Given the description of an element on the screen output the (x, y) to click on. 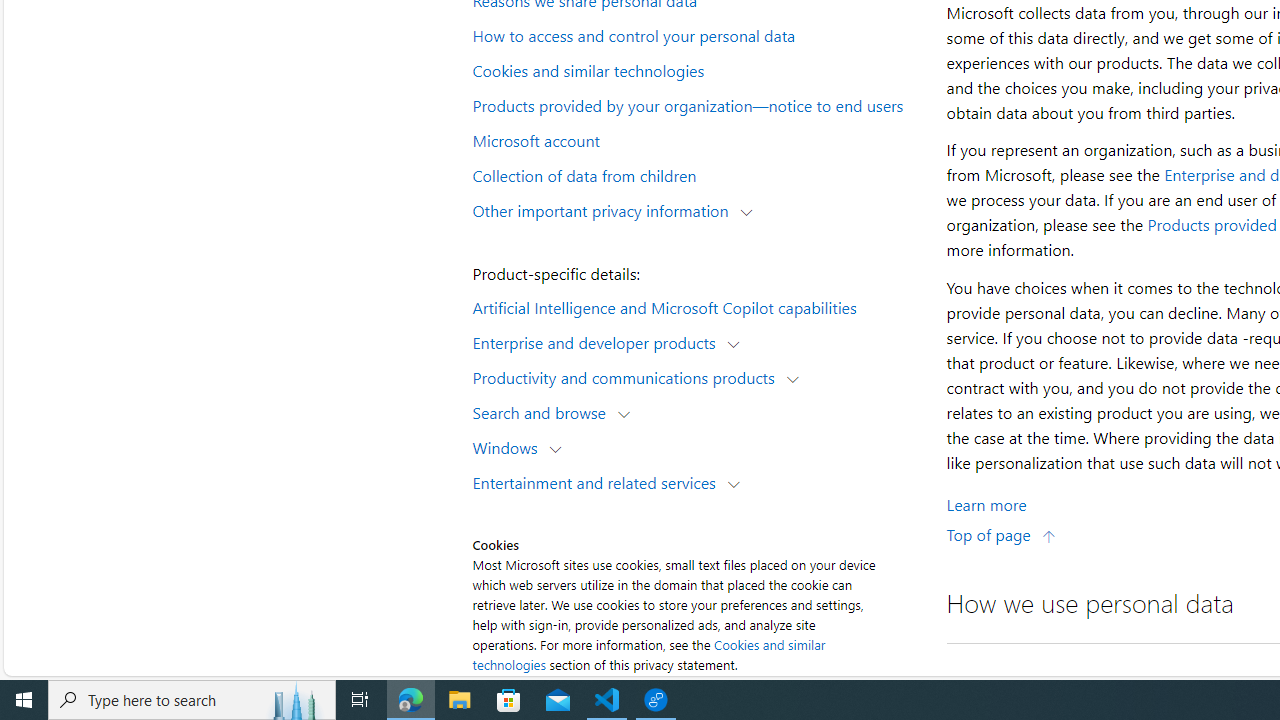
Other important privacy information (605, 209)
How to access and control your personal data (696, 35)
Productivity and communications products (628, 376)
Windows (509, 446)
Collection of data from children (696, 174)
Search and browse (543, 412)
Enterprise and developer products (598, 341)
Cookies and similar technologies (648, 654)
Learn More about Personal data we collect (985, 504)
Entertainment and related services (598, 481)
Top of page (1001, 534)
Microsoft account (696, 139)
Cookies and similar technologies (696, 69)
